Given the description of an element on the screen output the (x, y) to click on. 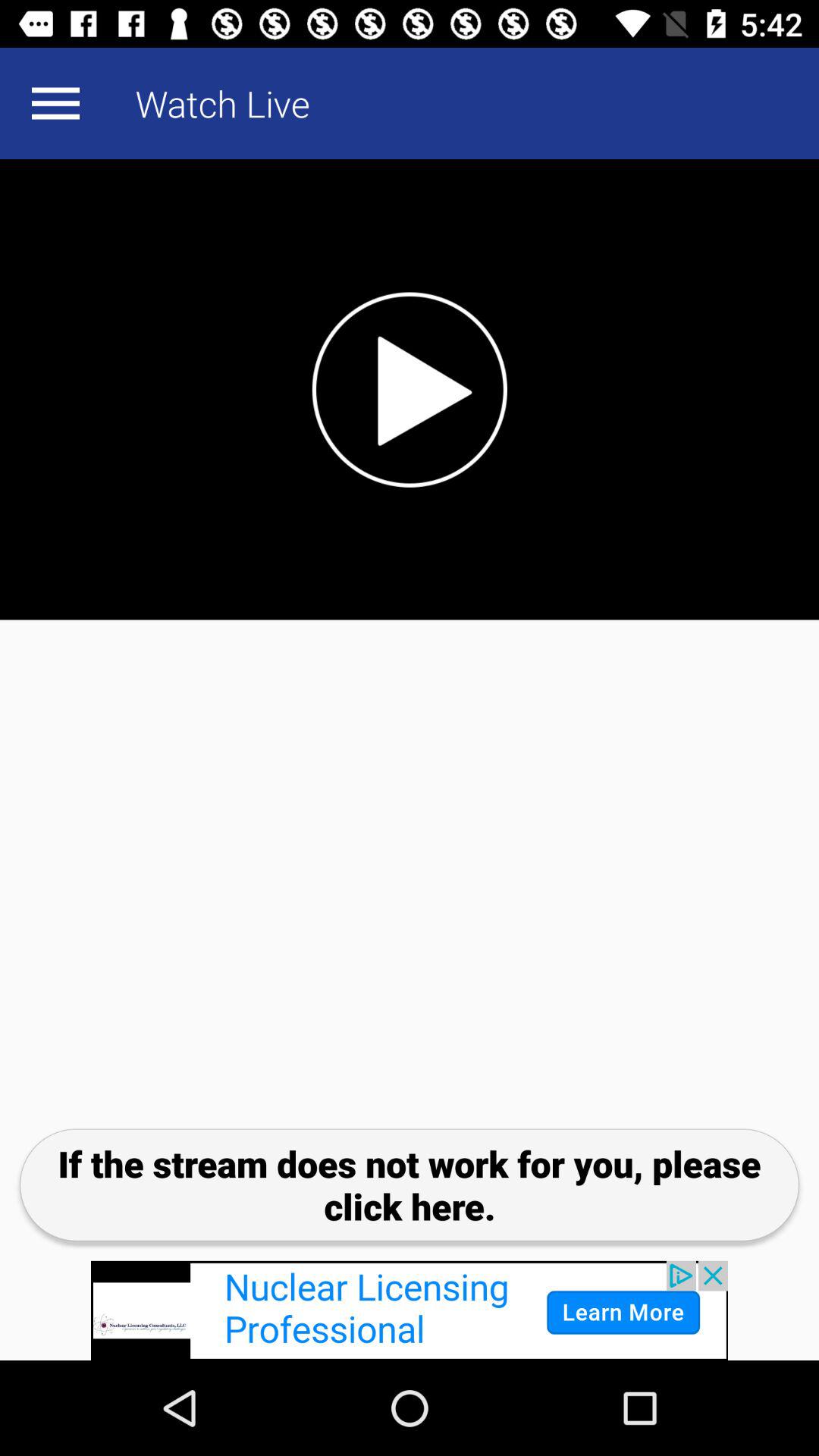
play live video (409, 389)
